Given the description of an element on the screen output the (x, y) to click on. 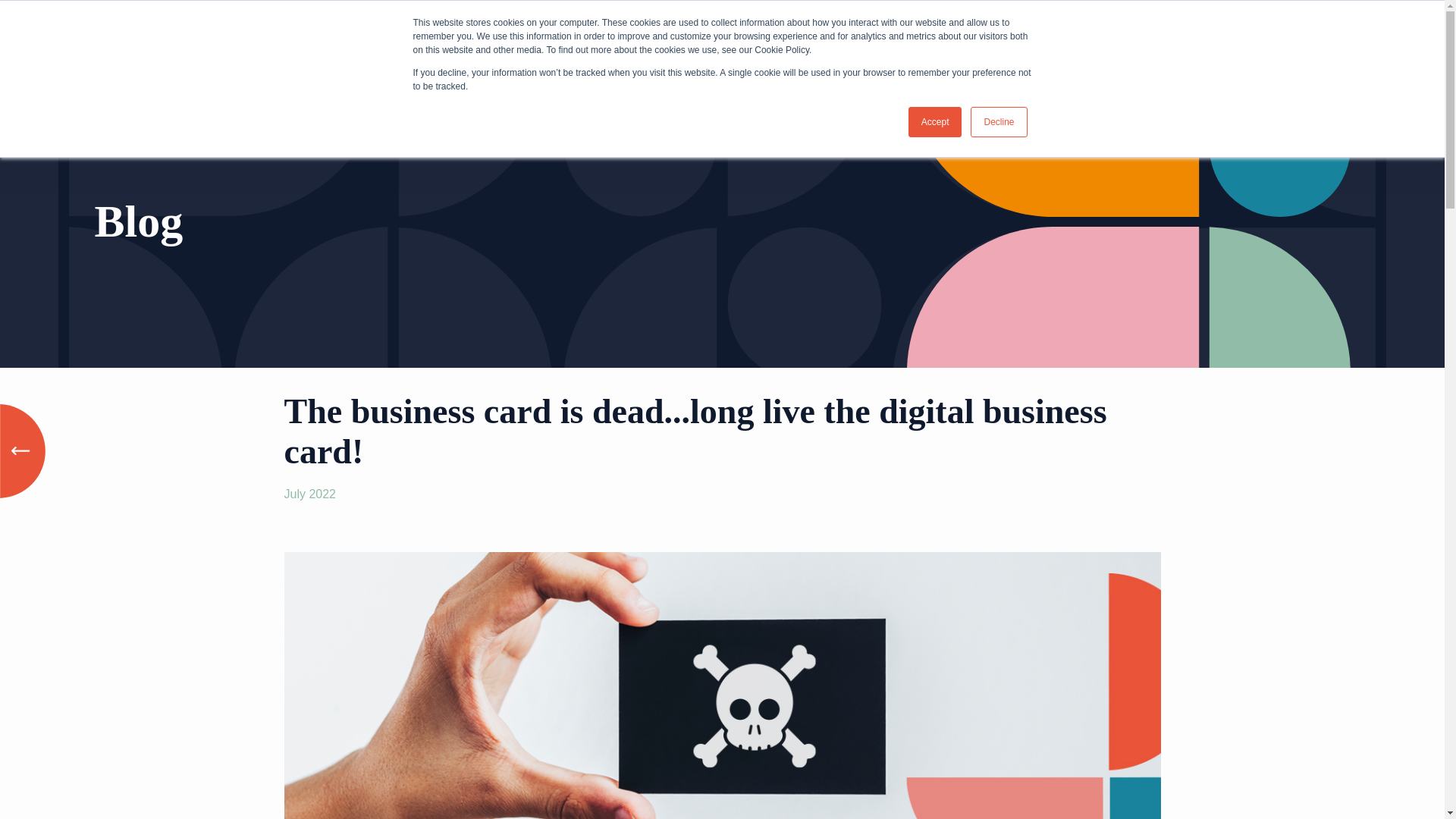
Home (170, 37)
About Us (903, 37)
Decline (998, 122)
Technology (1072, 37)
Home (840, 37)
Our Services (984, 37)
Accept (935, 122)
News (1141, 37)
